Given the description of an element on the screen output the (x, y) to click on. 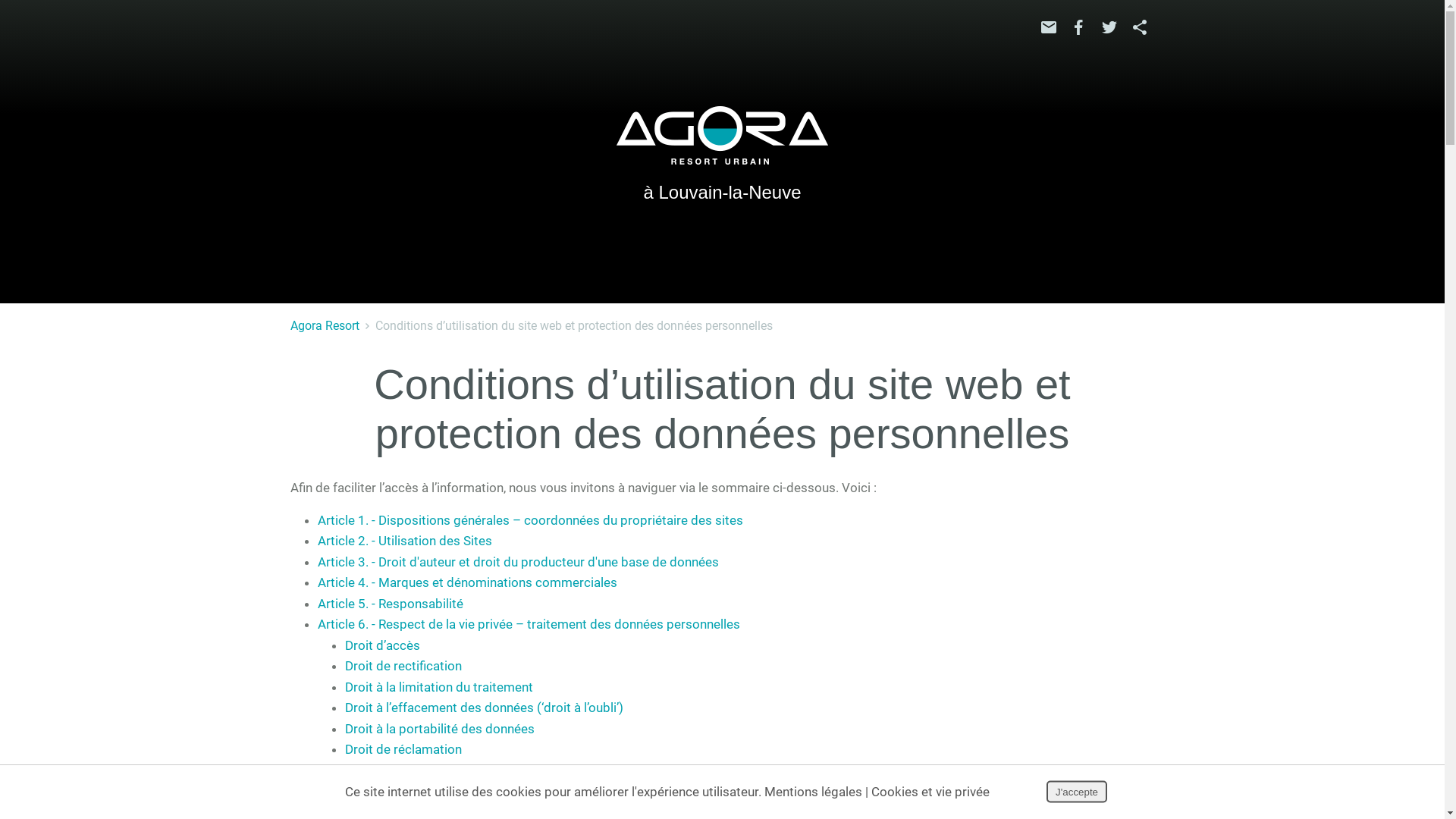
Partager ce contenu Element type: text (1138, 27)
Agora Resort Element type: hover (721, 135)
Droit de rectification Element type: text (402, 665)
Article 2. - Utilisation des Sites Element type: text (403, 540)
Agora Resort Element type: text (323, 325)
Article 8. - Cookies Element type: text (370, 790)
Article 7. - Hyperliens Element type: text (377, 770)
